Given the description of an element on the screen output the (x, y) to click on. 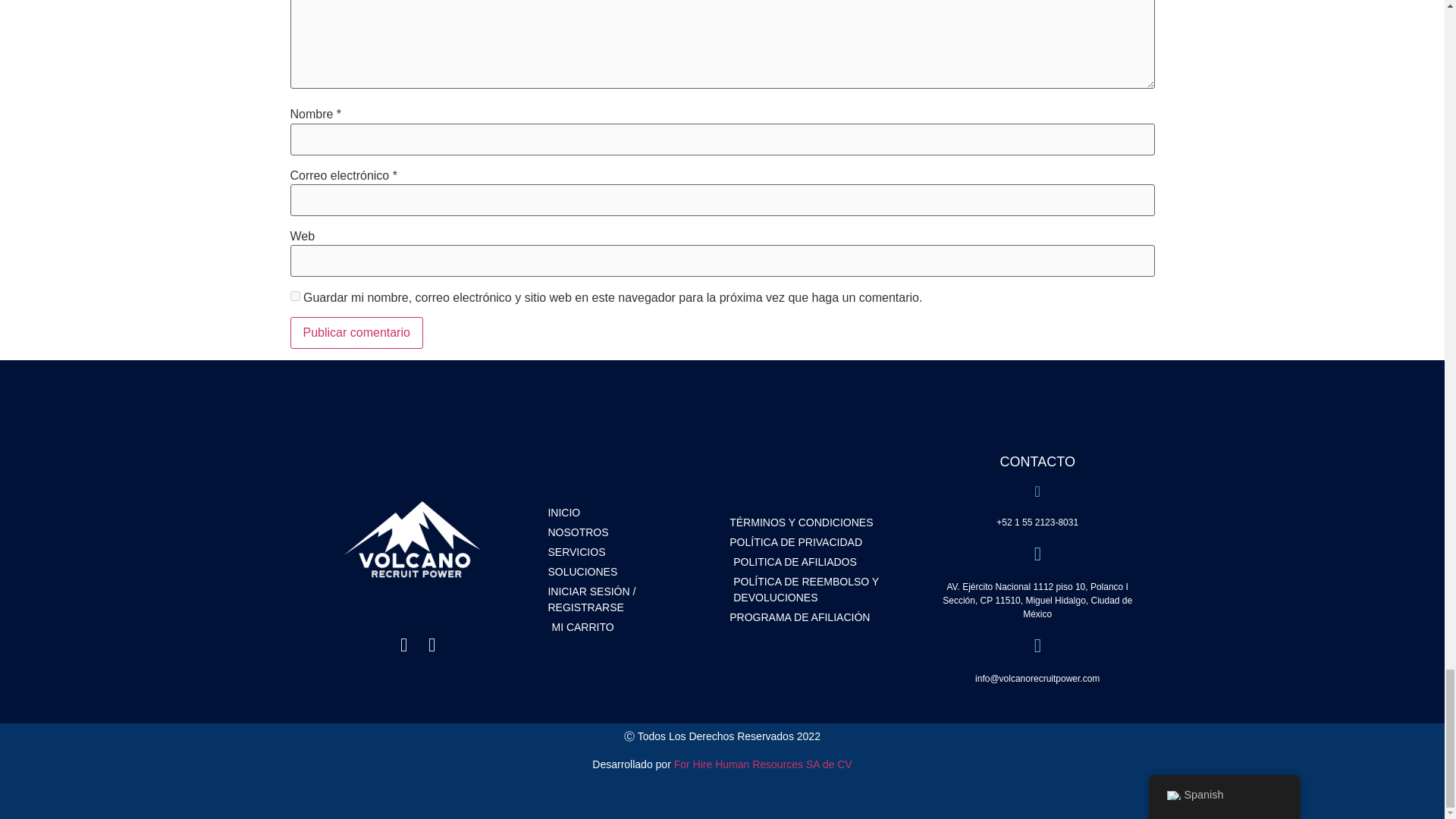
Publicar comentario (355, 332)
yes (294, 296)
Publicar comentario (355, 332)
For Hire Human Resources SA de CV (762, 764)
POLITICA DE AFILIADOS (820, 562)
NOSOTROS (630, 532)
SERVICIOS (630, 552)
SOLUCIONES (630, 571)
MI CARRITO (630, 627)
INICIO (630, 512)
